Given the description of an element on the screen output the (x, y) to click on. 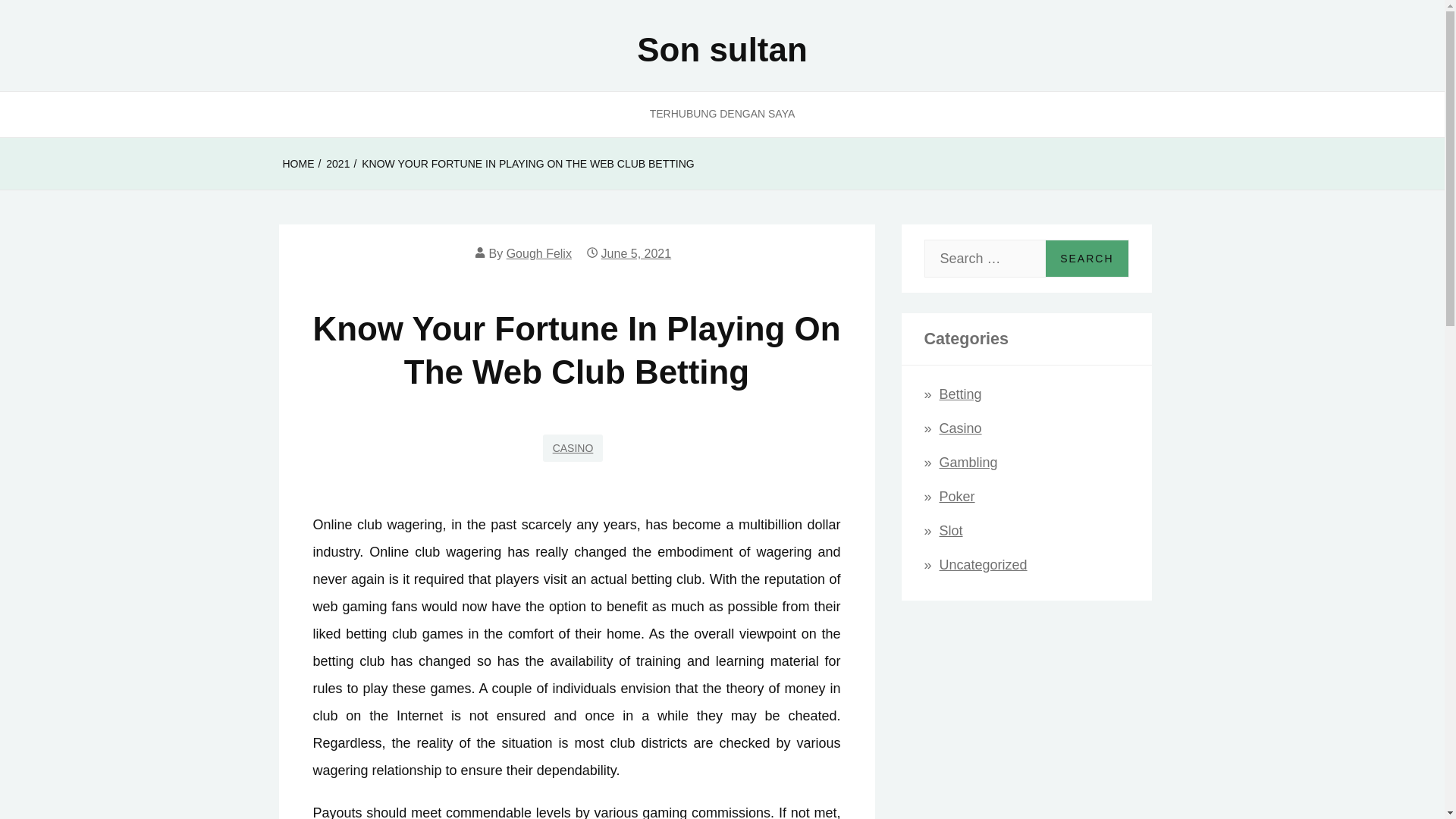
Search (1085, 258)
Uncategorized (983, 564)
June 5, 2021 (636, 253)
Betting (960, 394)
Son sultan (721, 49)
Search (1085, 258)
TERHUBUNG DENGAN SAYA (722, 114)
HOME (298, 164)
Gough Felix (539, 253)
Search (1085, 258)
